Given the description of an element on the screen output the (x, y) to click on. 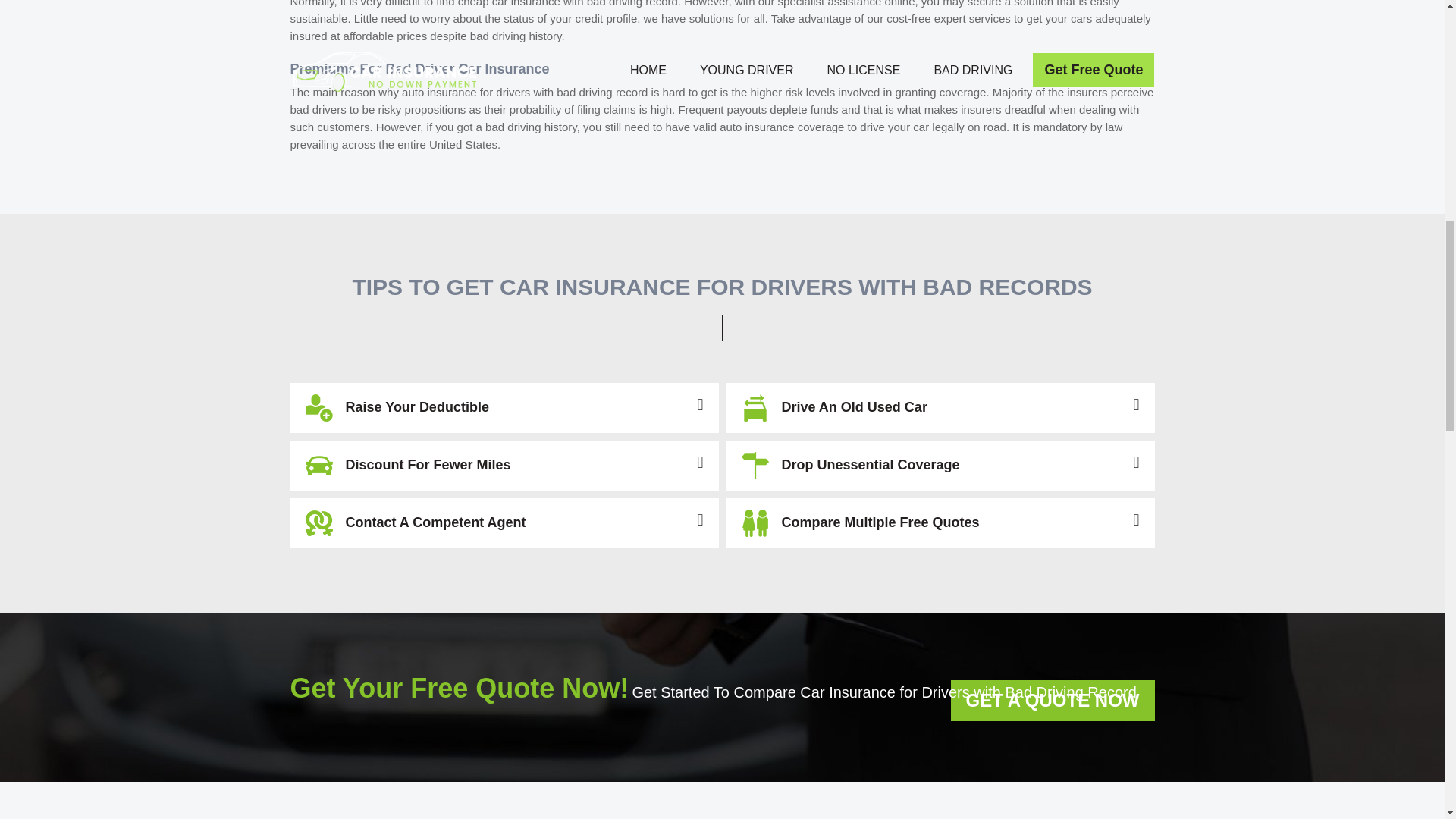
Discount For Fewer Miles (503, 465)
Drive An Old Used Car (940, 408)
Compare Multiple Free Quotes (940, 522)
GET A QUOTE NOW (1052, 700)
Drop Unessential Coverage (940, 465)
Raise Your Deductible (503, 408)
Contact A Competent Agent (503, 522)
